Given the description of an element on the screen output the (x, y) to click on. 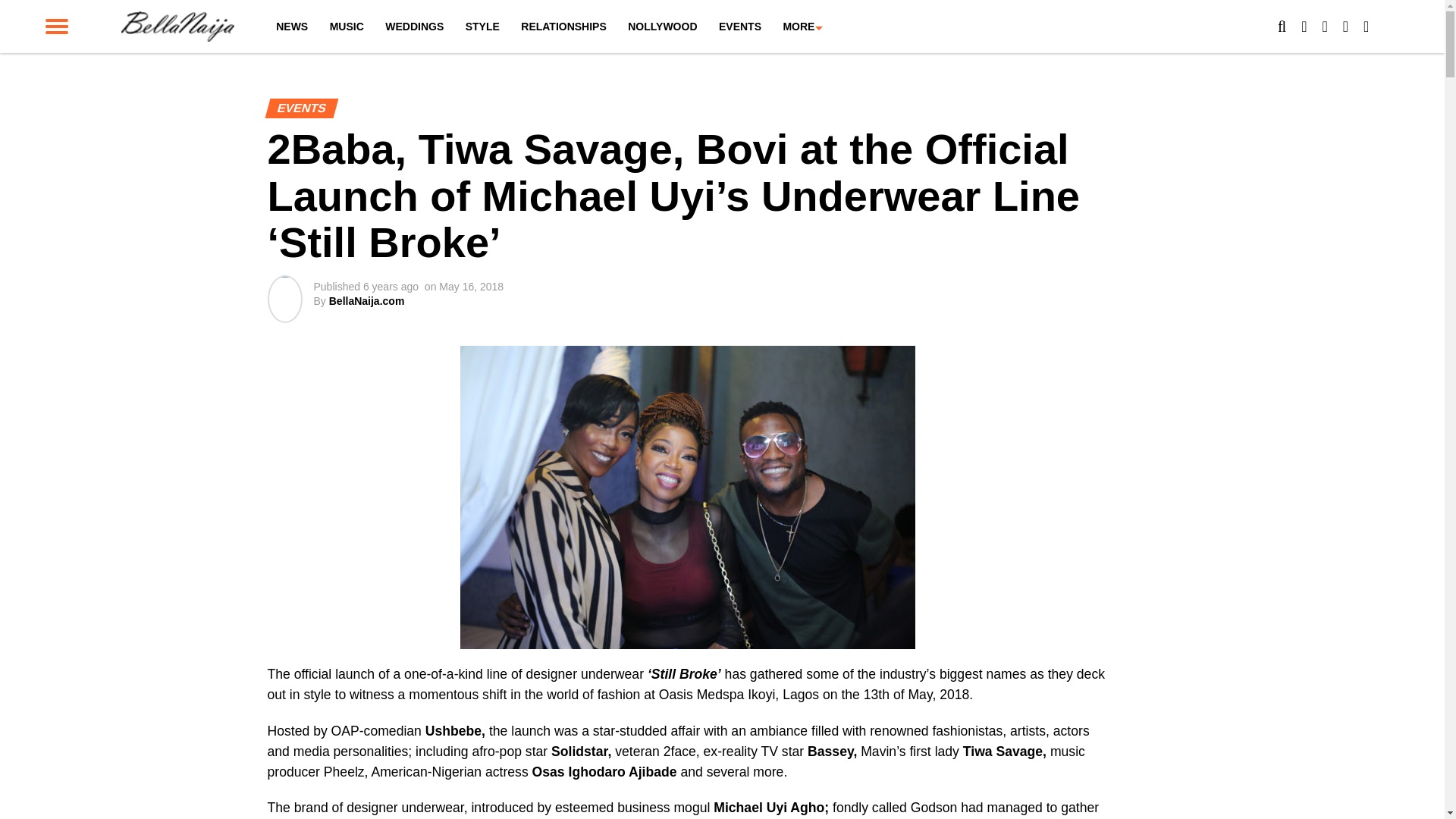
WEDDINGS (413, 26)
NOLLYWOOD (662, 26)
RELATIONSHIPS (563, 26)
MUSIC (346, 26)
EVENTS (740, 26)
NEWS (291, 26)
MORE (798, 26)
STYLE (482, 26)
